Given the description of an element on the screen output the (x, y) to click on. 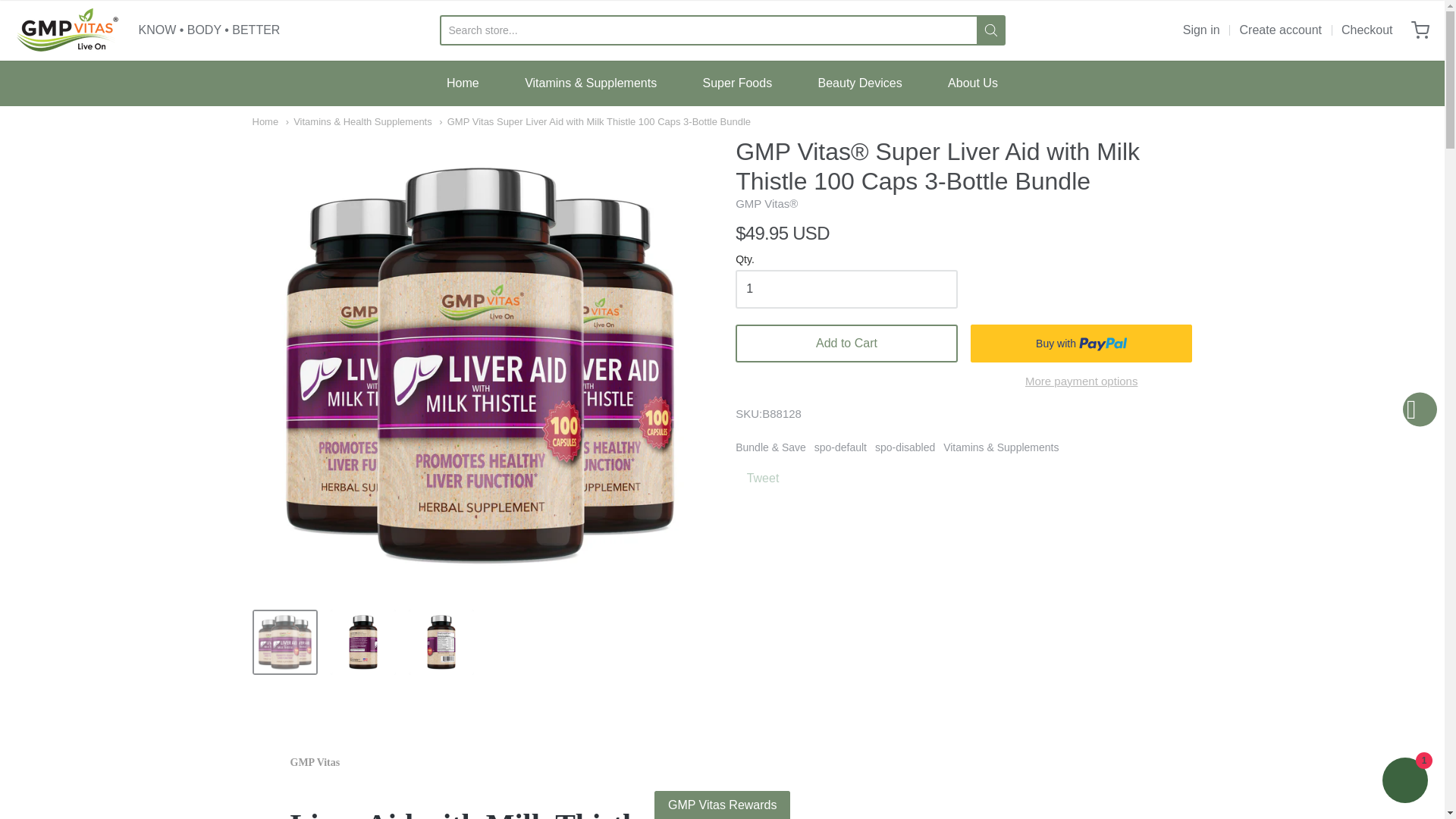
Show products matching tag spo-disabled (904, 447)
About Us (972, 83)
Beauty Devices (860, 83)
Create account (1281, 30)
GMP Vitas (66, 30)
Checkout (1366, 30)
Super Foods (738, 83)
Show products matching tag spo-default (839, 447)
Home (264, 121)
1 (846, 288)
Sign in (1201, 30)
Home (462, 83)
Shopify online store chat (1404, 781)
